Given the description of an element on the screen output the (x, y) to click on. 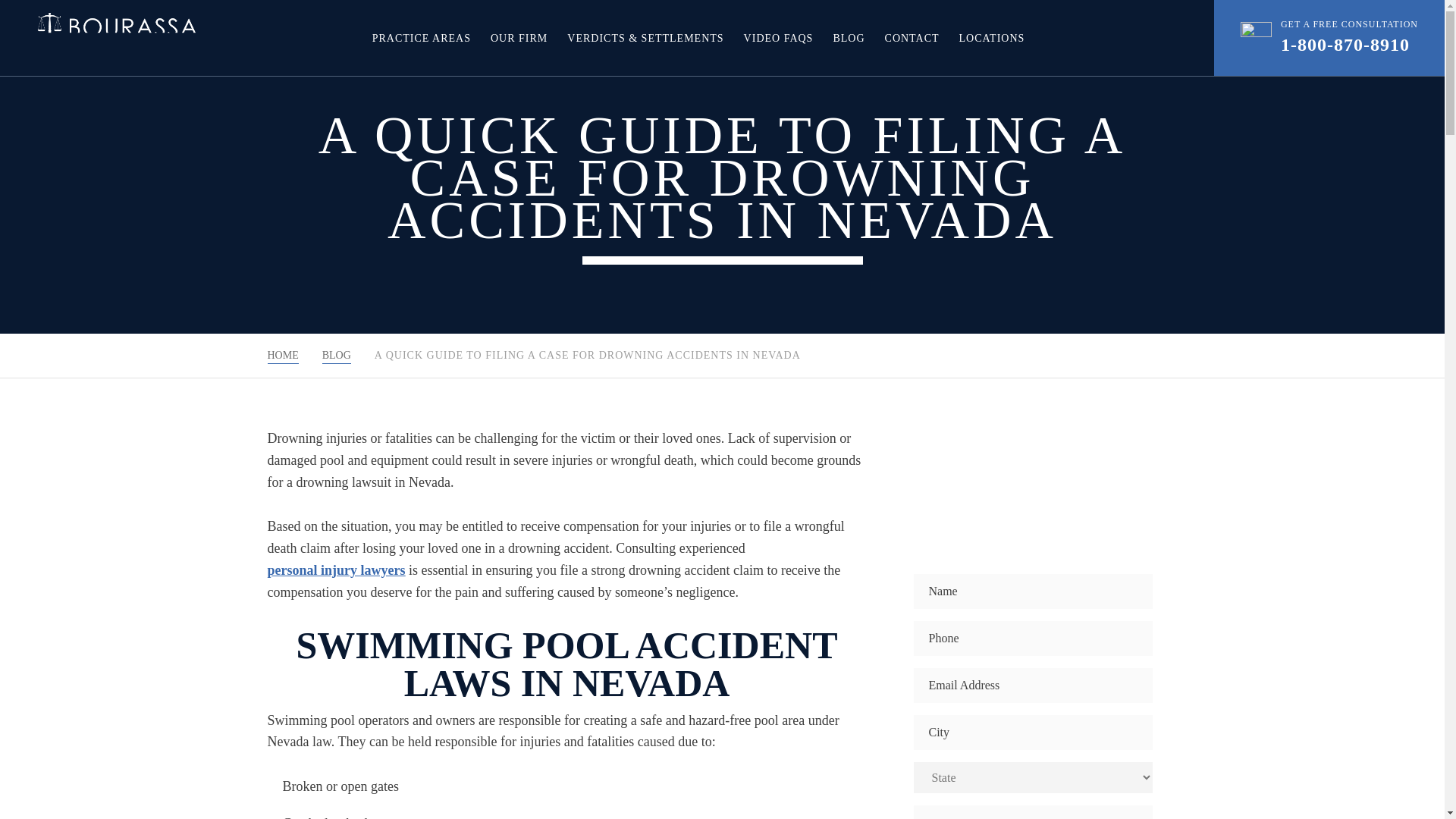
BLOG (335, 355)
personal injury lawyers (335, 570)
LOCATIONS (992, 37)
BLOG (848, 37)
OUR FIRM (518, 37)
HOME (282, 355)
VIDEO FAQS (778, 37)
CONTACT (912, 37)
PRACTICE AREAS (421, 37)
